Given the description of an element on the screen output the (x, y) to click on. 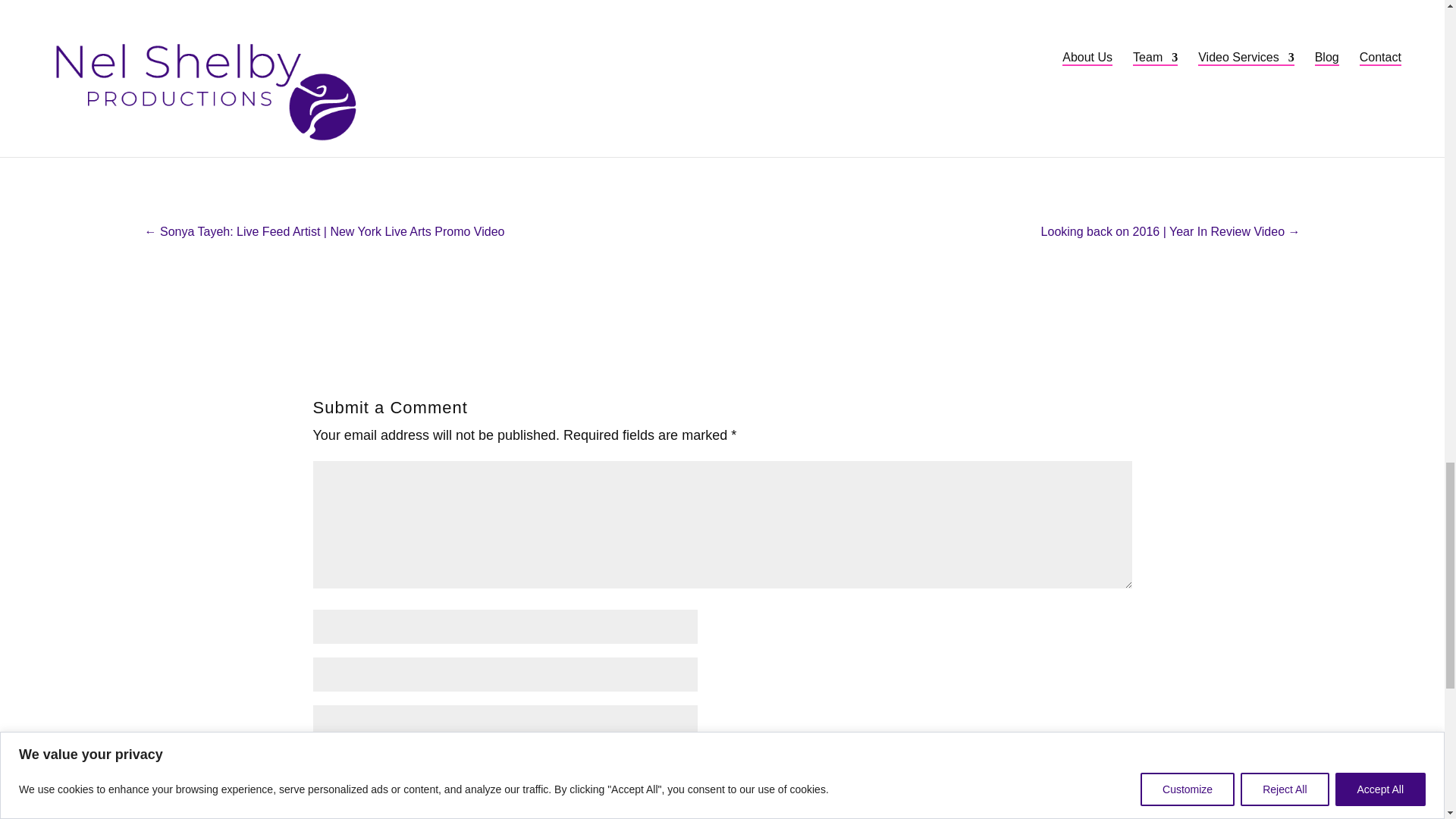
Submit Comment (1039, 771)
